Given the description of an element on the screen output the (x, y) to click on. 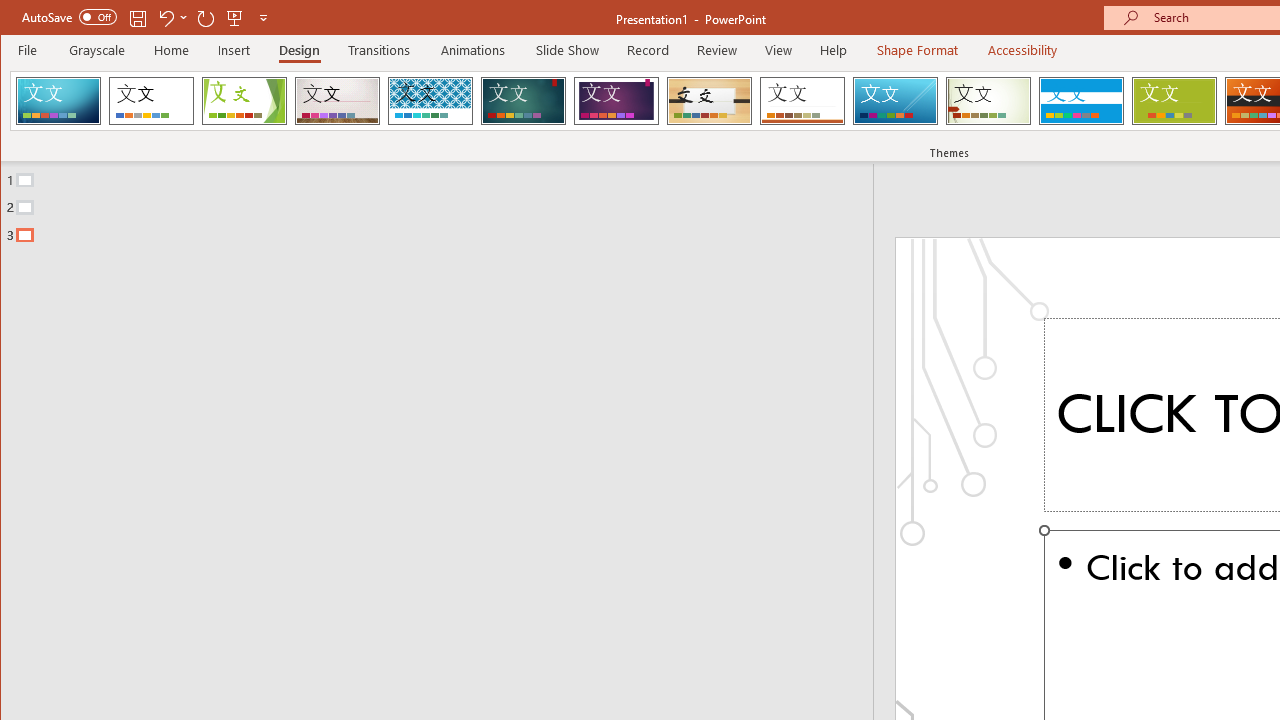
Retrospect (802, 100)
Dividend (57, 100)
Slice (895, 100)
Organic (709, 100)
Outline (445, 203)
Office Theme (151, 100)
